Given the description of an element on the screen output the (x, y) to click on. 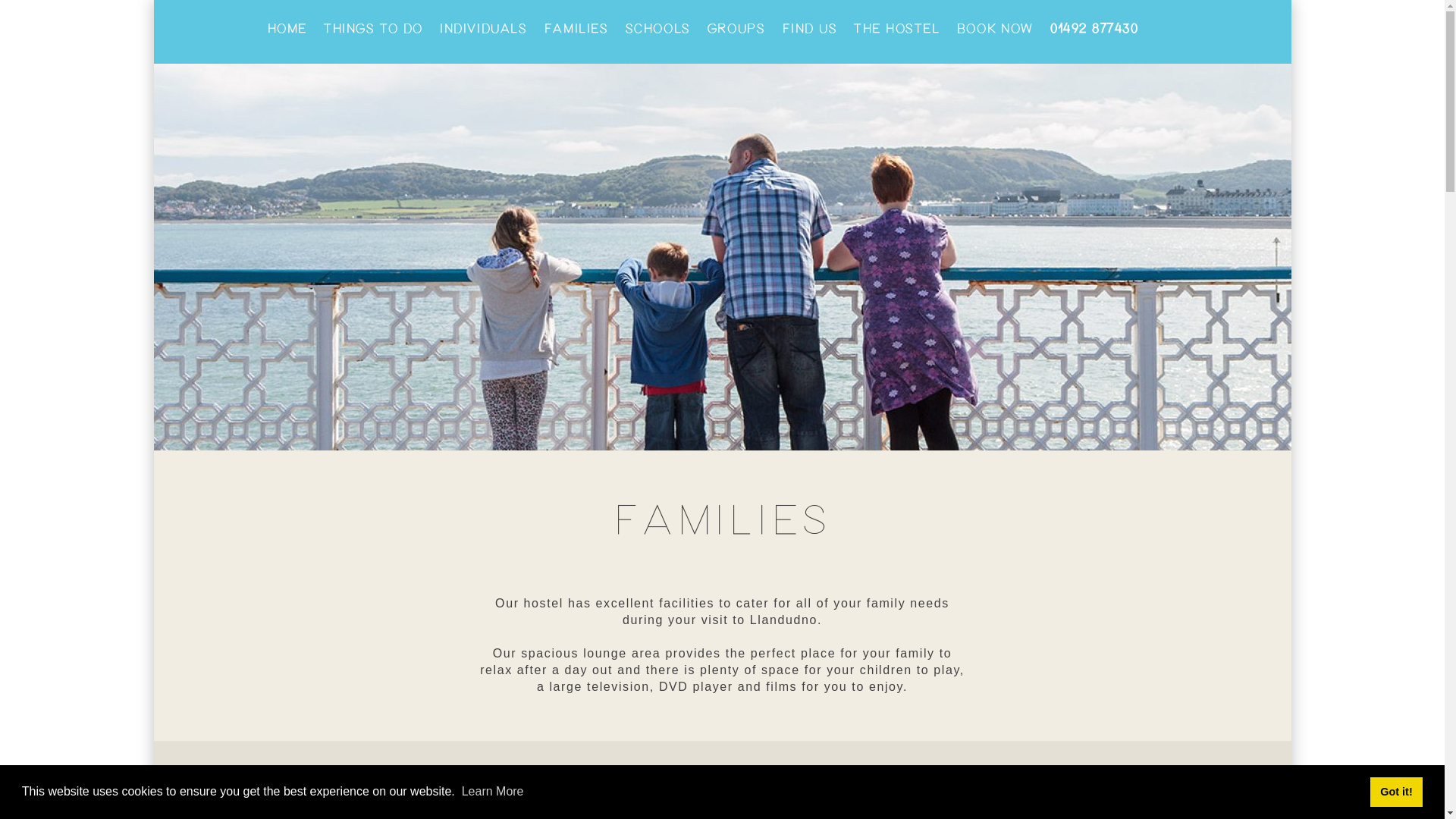
GROUPS (736, 29)
FAMILIES (576, 29)
THINGS TO DO (373, 29)
BOOK NOW (994, 29)
SCHOOLS (658, 29)
INDIVIDUALS (483, 29)
THE HOSTEL (896, 29)
FIND US (810, 29)
HOME (285, 29)
Learn More (492, 790)
